Given the description of an element on the screen output the (x, y) to click on. 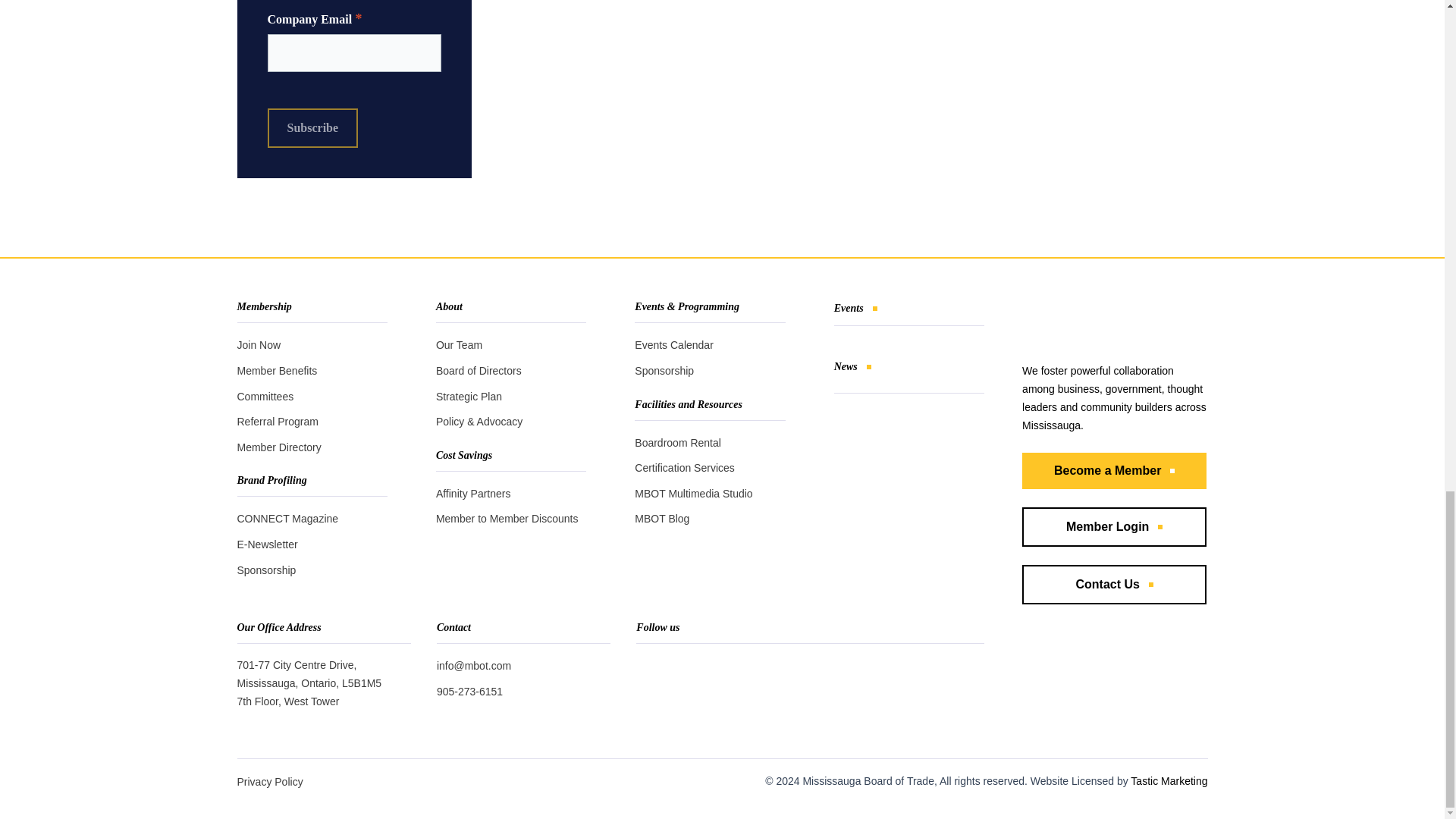
Subscribe (312, 128)
